Given the description of an element on the screen output the (x, y) to click on. 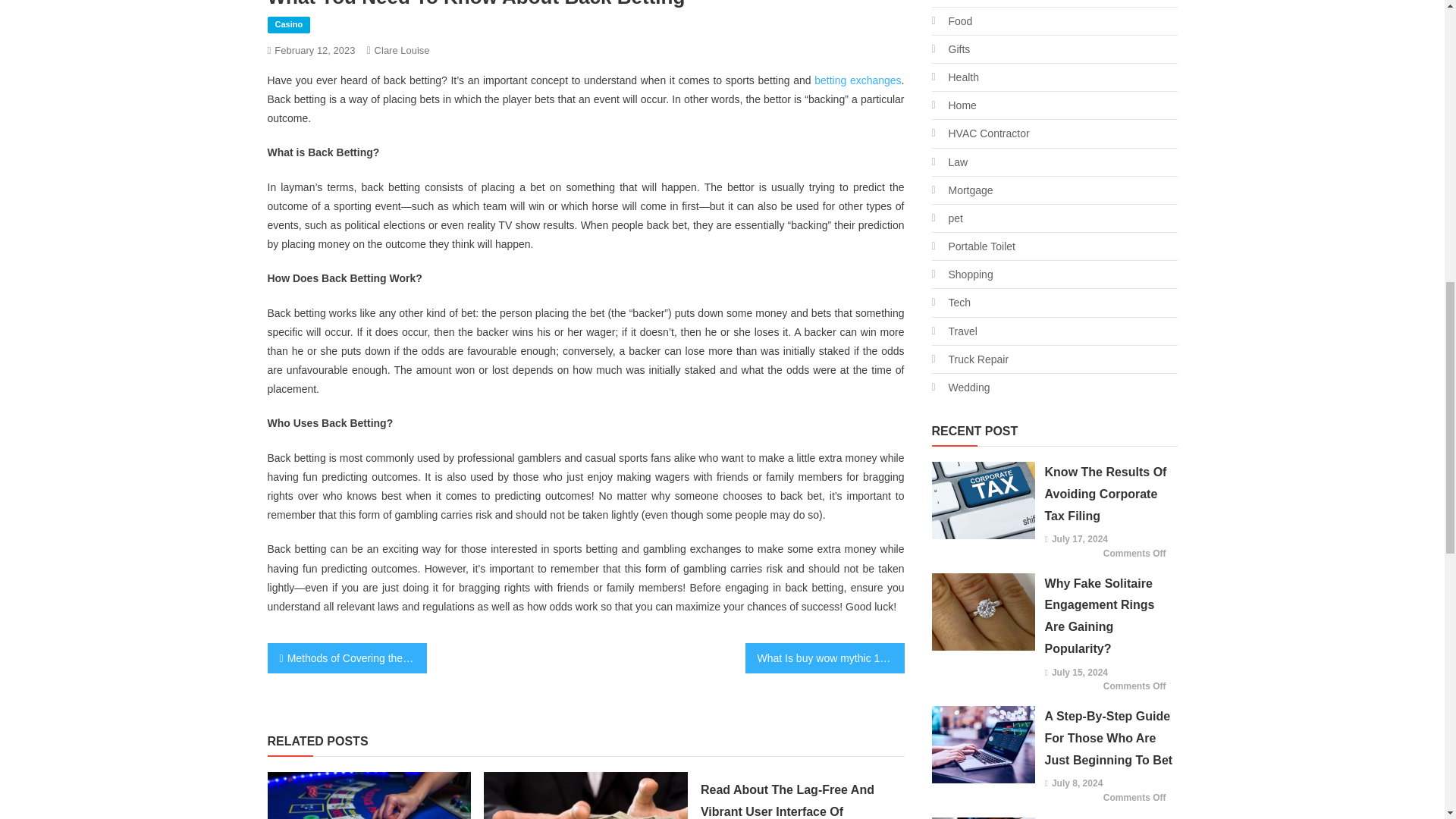
Clare Louise (401, 50)
February 12, 2023 (315, 50)
Methods of Covering the Cost of Auto Maintenance (346, 657)
betting exchanges (857, 80)
Casino (288, 24)
